Given the description of an element on the screen output the (x, y) to click on. 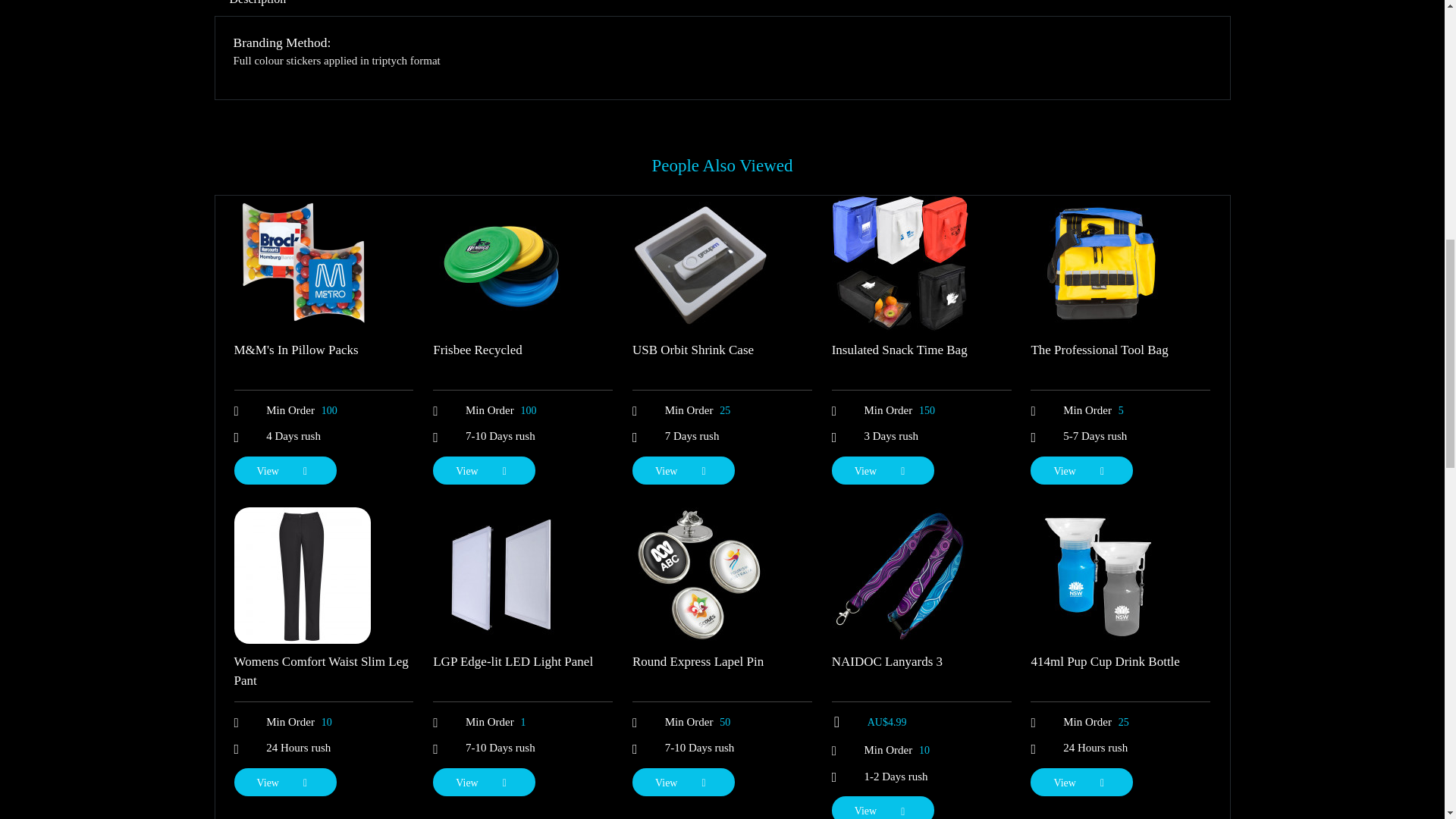
USB Orbit Shrink Case (692, 350)
Frisbee Recycled (477, 350)
